Given the description of an element on the screen output the (x, y) to click on. 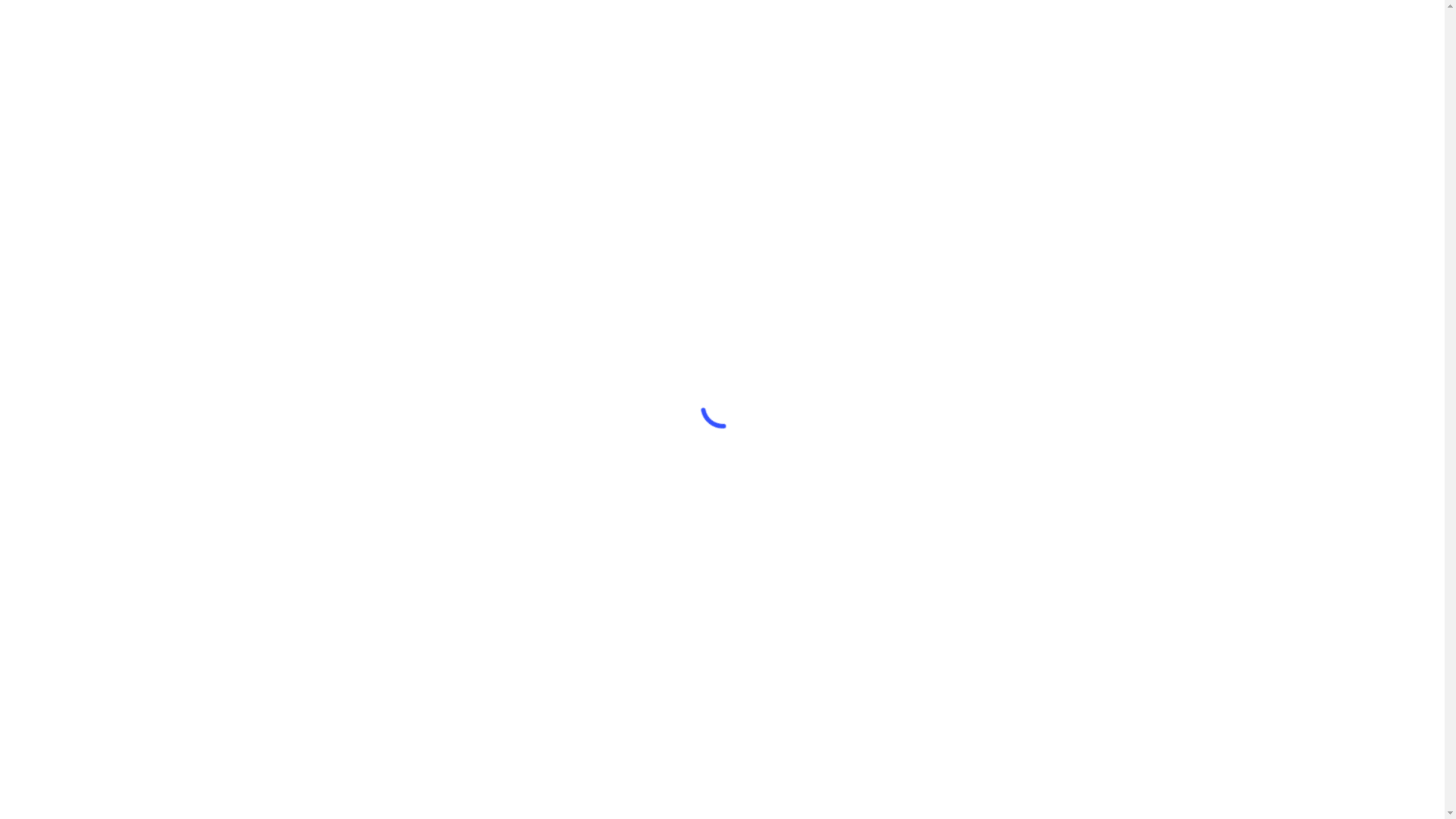
Knitting Needle Brands Element type: text (828, 29)
About Me Element type: text (1117, 29)
Home Element type: text (631, 29)
Knitting Needle Brands Element type: text (361, 611)
Webster's Knitting Needle Notions Element type: text (377, 29)
History of Knitting Element type: text (361, 585)
Publications Element type: text (361, 688)
Articles Element type: text (361, 662)
Orphans Element type: text (925, 29)
History of Knitting Element type: text (707, 29)
Orphans Element type: text (361, 636)
About Me Element type: text (361, 714)
search Element type: text (1185, 29)
Publications Element type: text (1047, 29)
Articles Element type: text (982, 29)
Home Element type: text (361, 559)
